Given the description of an element on the screen output the (x, y) to click on. 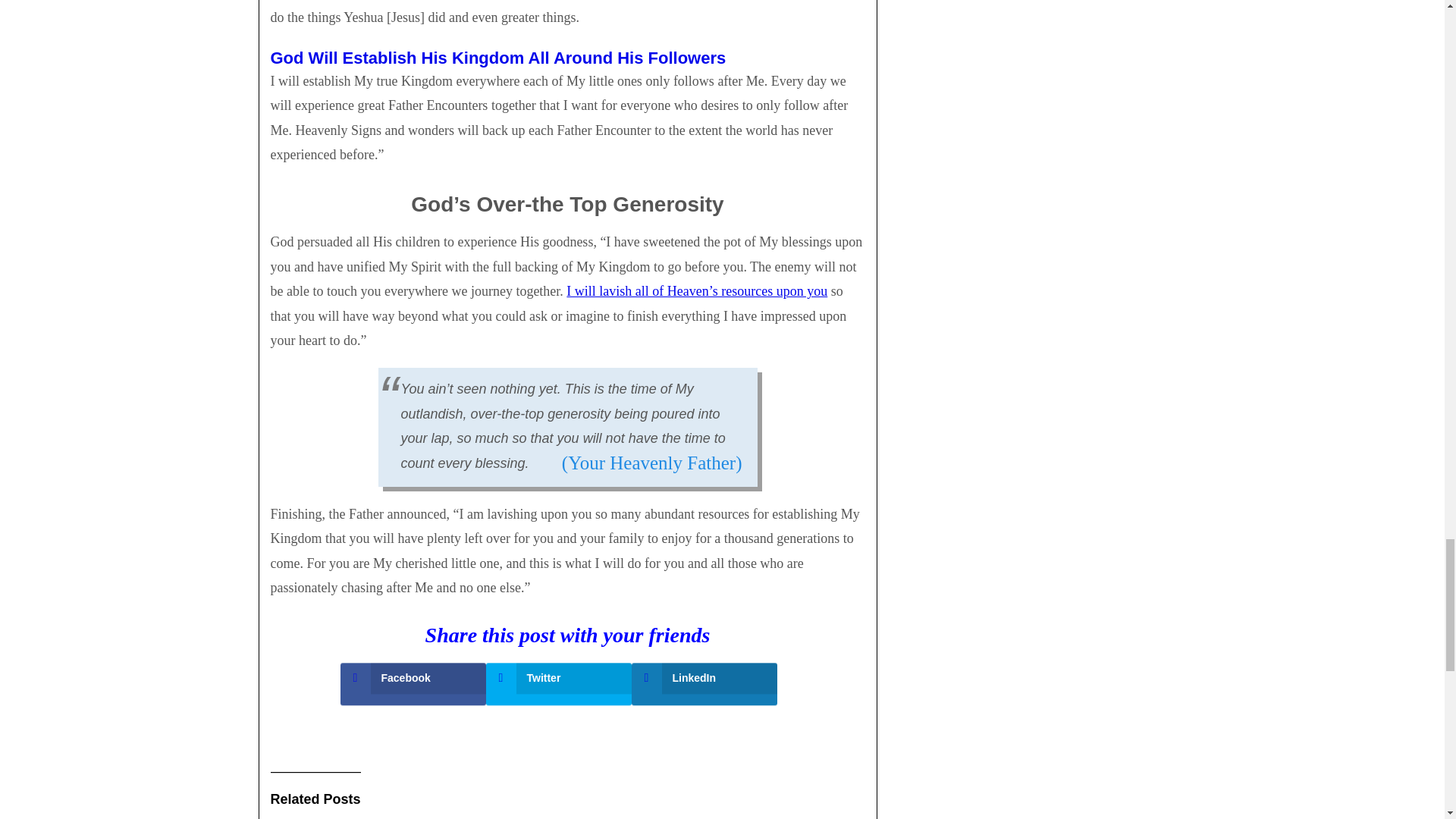
Facebook (411, 677)
Twitter (557, 677)
LinkedIn (703, 677)
